Given the description of an element on the screen output the (x, y) to click on. 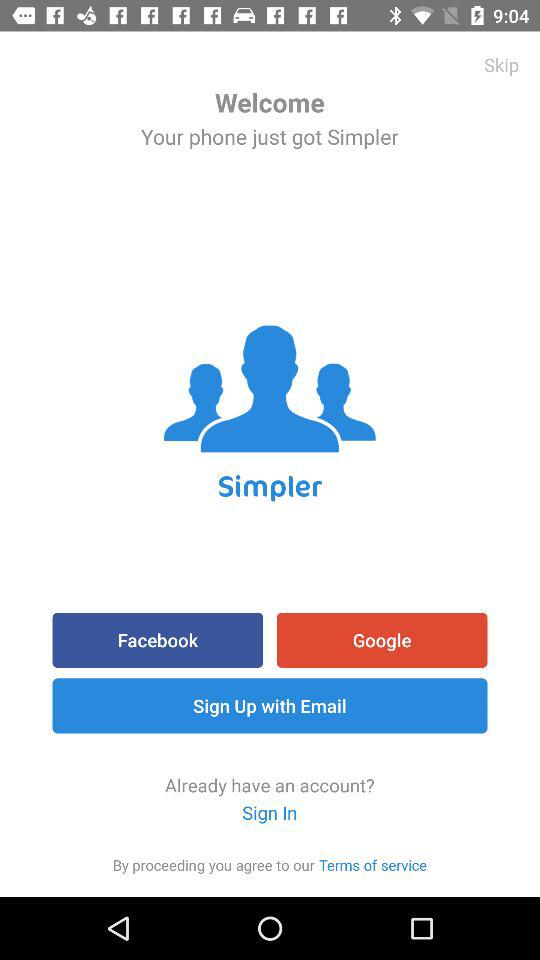
select the item above sign up with (157, 639)
